Given the description of an element on the screen output the (x, y) to click on. 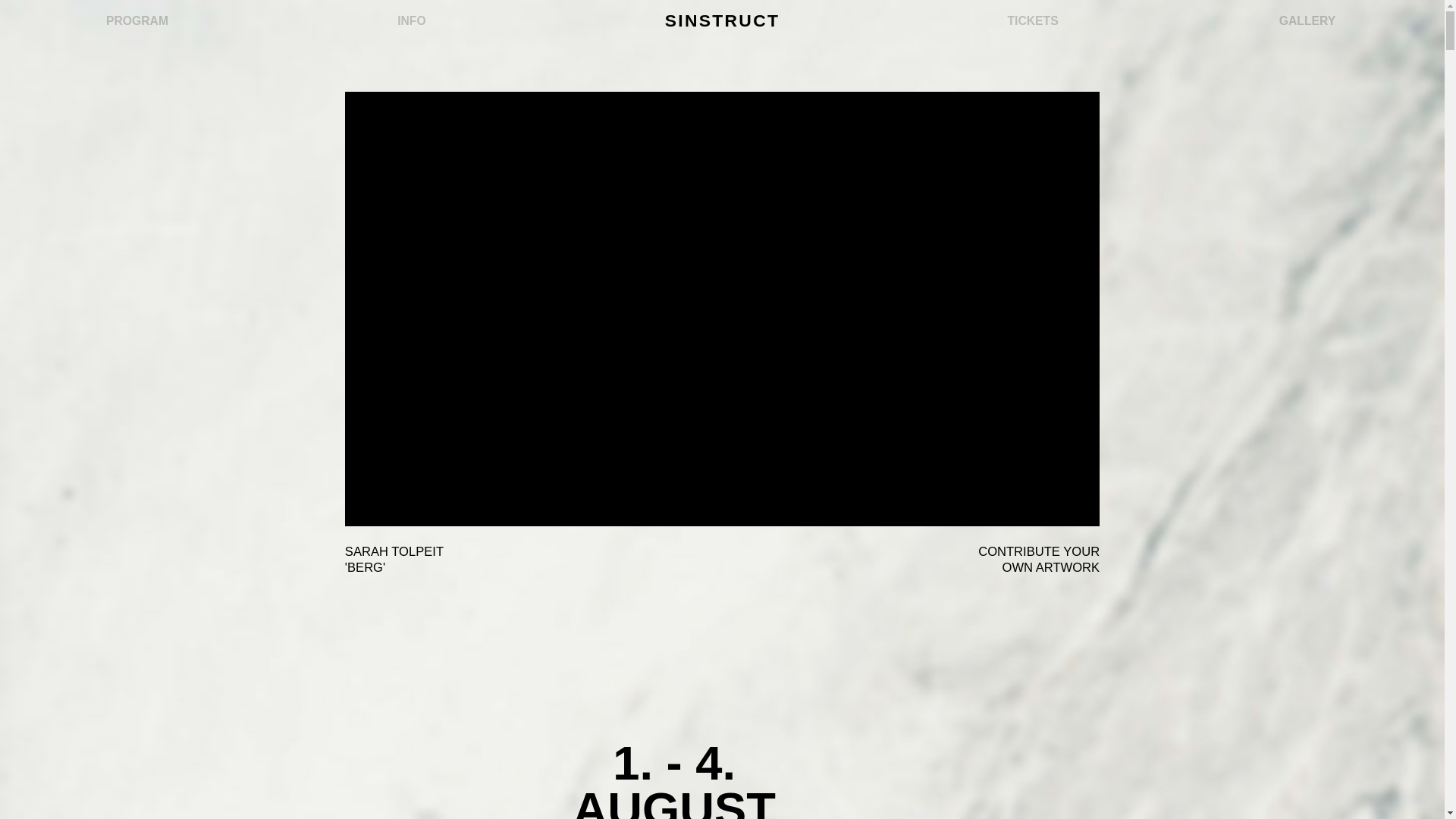
PROGRAM (137, 20)
TICKETS (1032, 20)
INFO (411, 20)
